Given the description of an element on the screen output the (x, y) to click on. 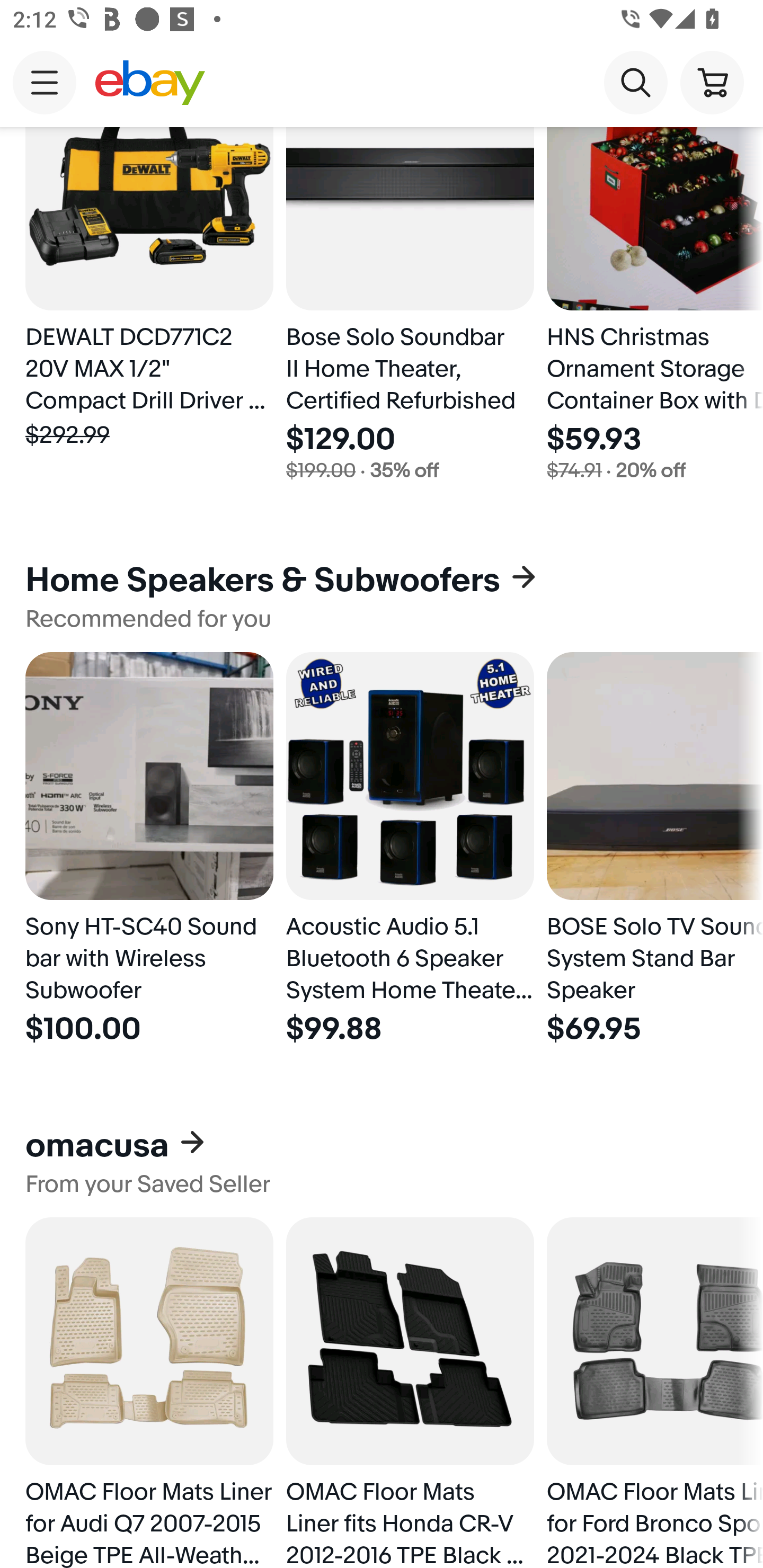
Main navigation, open (44, 82)
Search (635, 81)
Cart button shopping cart (711, 81)
Home Speakers & Subwoofers   Recommended for you (381, 596)
omacusa   From your Saved Seller (381, 1160)
